Given the description of an element on the screen output the (x, y) to click on. 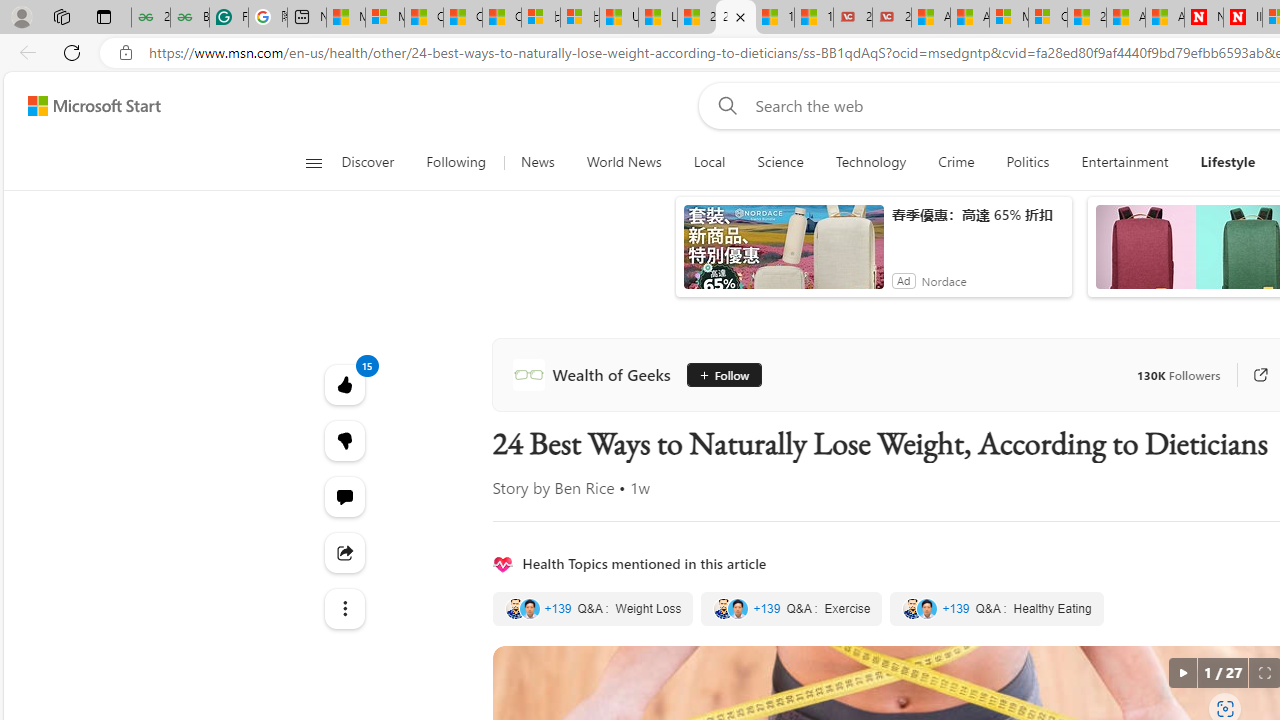
autorotate button (1181, 673)
Free AI Writing Assistance for Students | Grammarly (228, 17)
25 Basic Linux Commands For Beginners - GeeksforGeeks (150, 17)
15 Ways Modern Life Contradicts the Teachings of Jesus (813, 17)
Class: quote-thumbnail (927, 608)
20 Ways to Boost Your Protein Intake at Every Meal (1086, 17)
USA TODAY - MSN (618, 17)
21 Movies That Outdid the Books They Were Based On (892, 17)
